Given the description of an element on the screen output the (x, y) to click on. 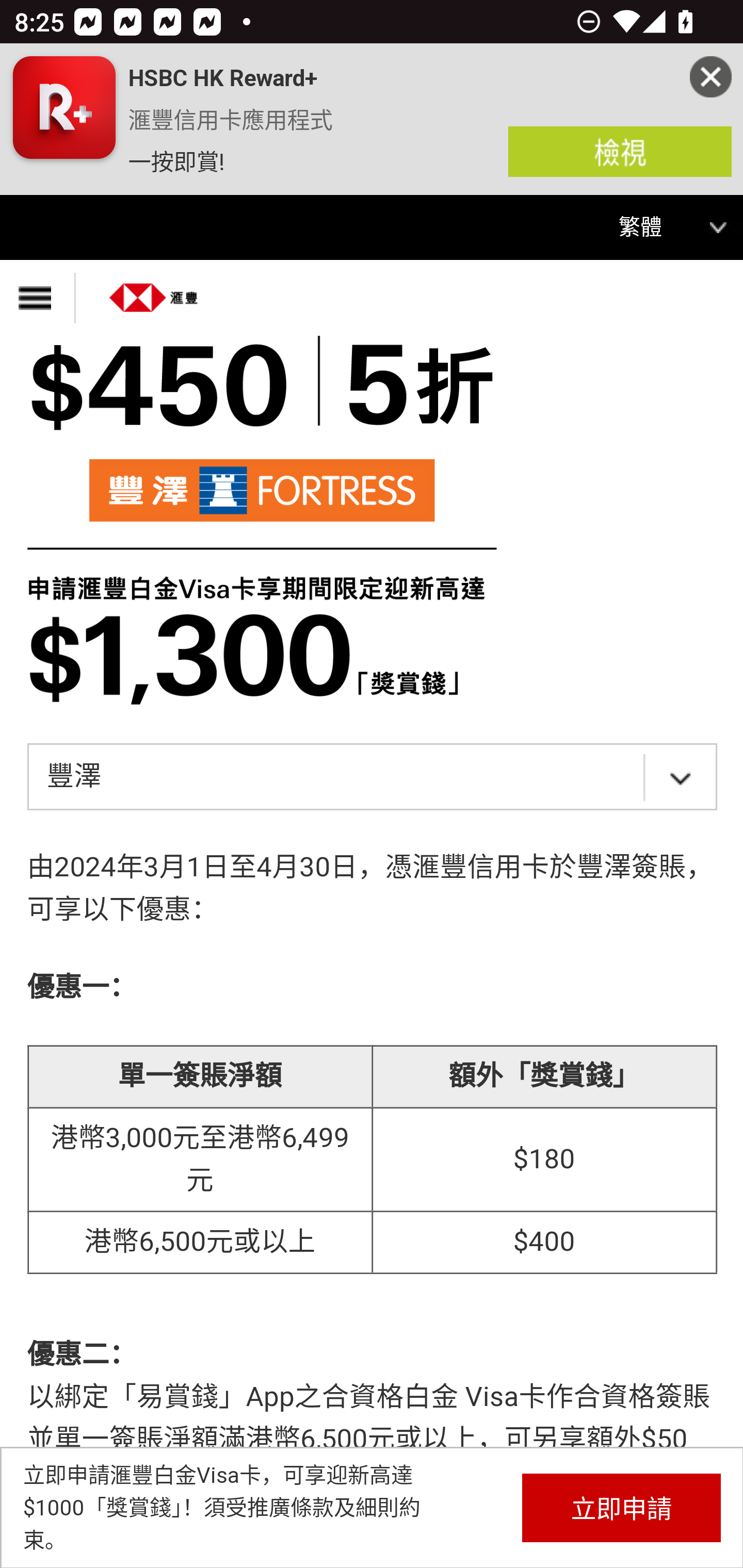
繁體 (653, 227)
HSBC (154, 291)
目錄 (37, 298)
豐澤 (371, 777)
立即申請 (621, 1507)
